Given the description of an element on the screen output the (x, y) to click on. 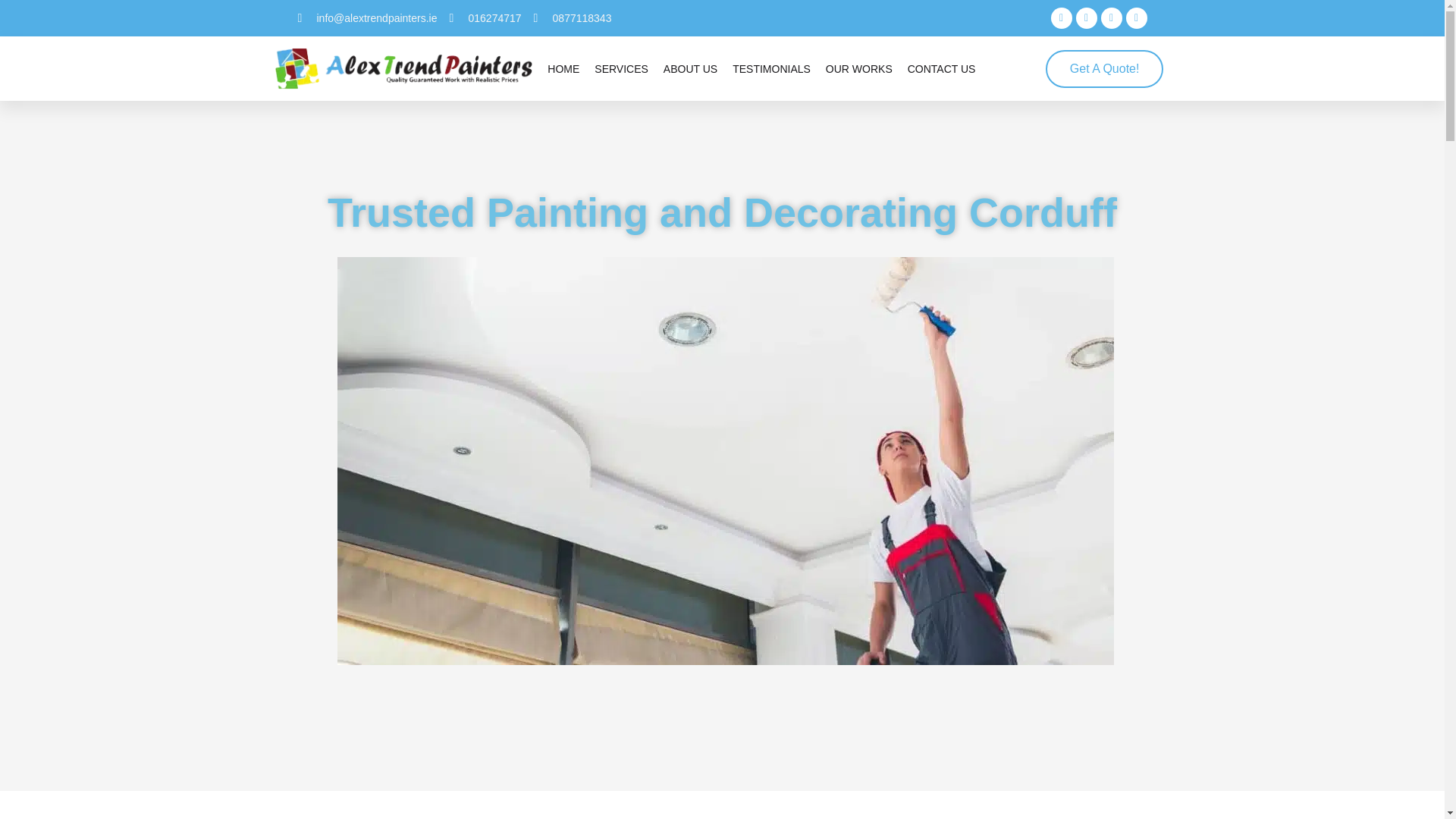
Facebook (1061, 17)
TESTIMONIALS (771, 68)
Get A Quote! (1104, 68)
Youtube (1085, 17)
016274717 (484, 18)
0877118343 (572, 18)
ABOUT US (690, 68)
SERVICES (620, 68)
HOME (563, 68)
Pinterest (1136, 17)
